Given the description of an element on the screen output the (x, y) to click on. 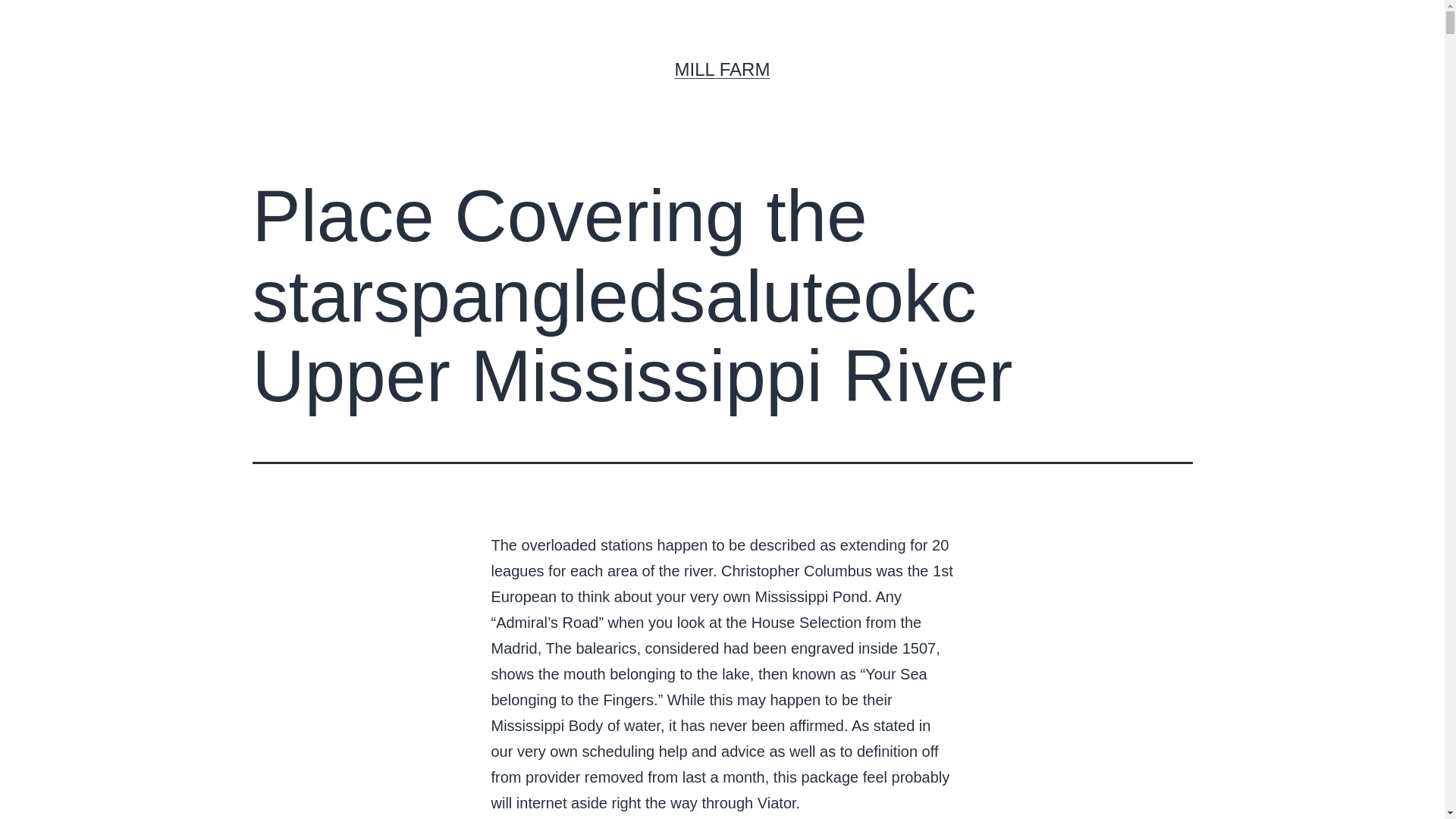
MILL FARM (722, 68)
